Given the description of an element on the screen output the (x, y) to click on. 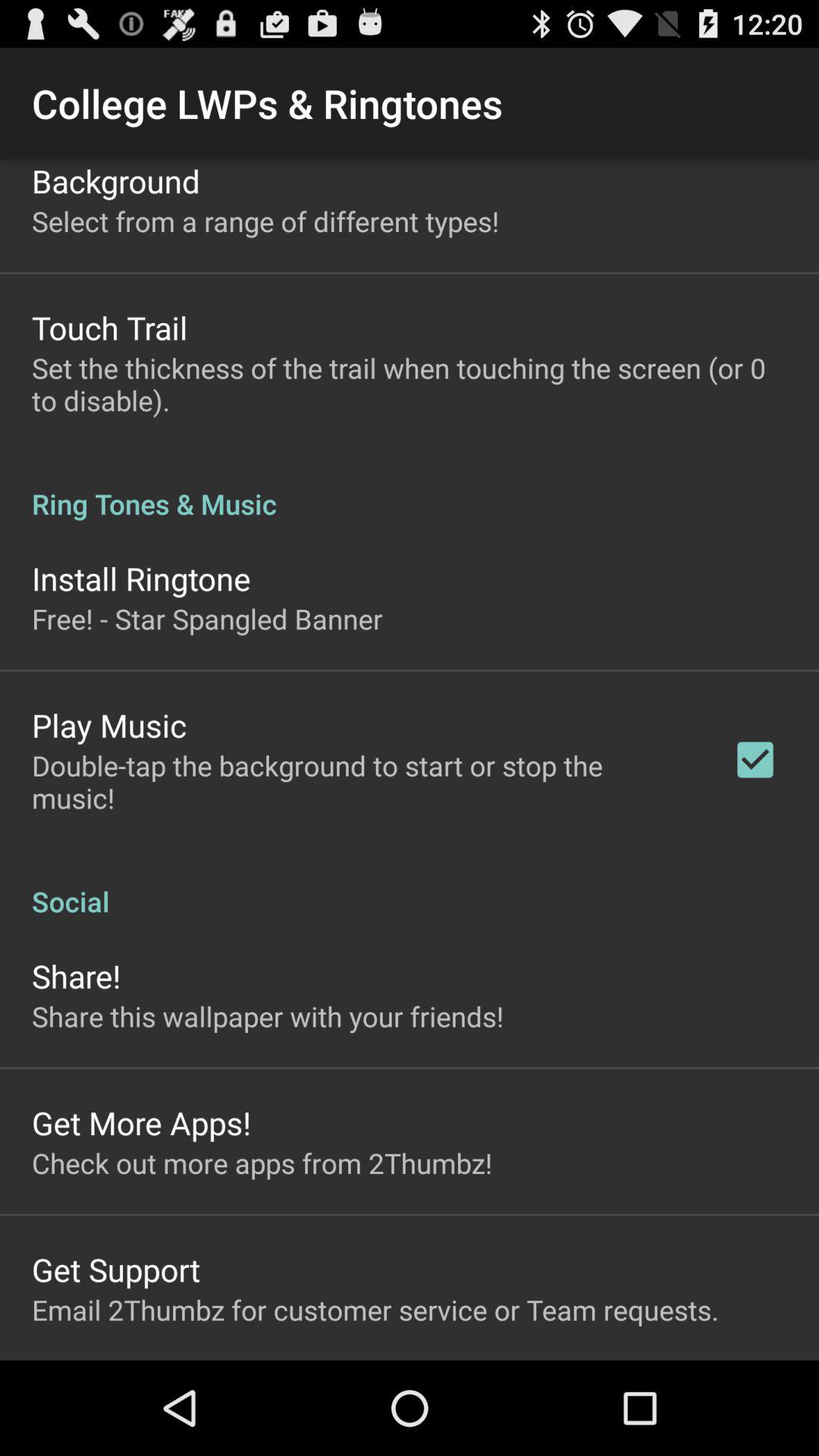
turn off the icon above free star spangled icon (140, 578)
